Given the description of an element on the screen output the (x, y) to click on. 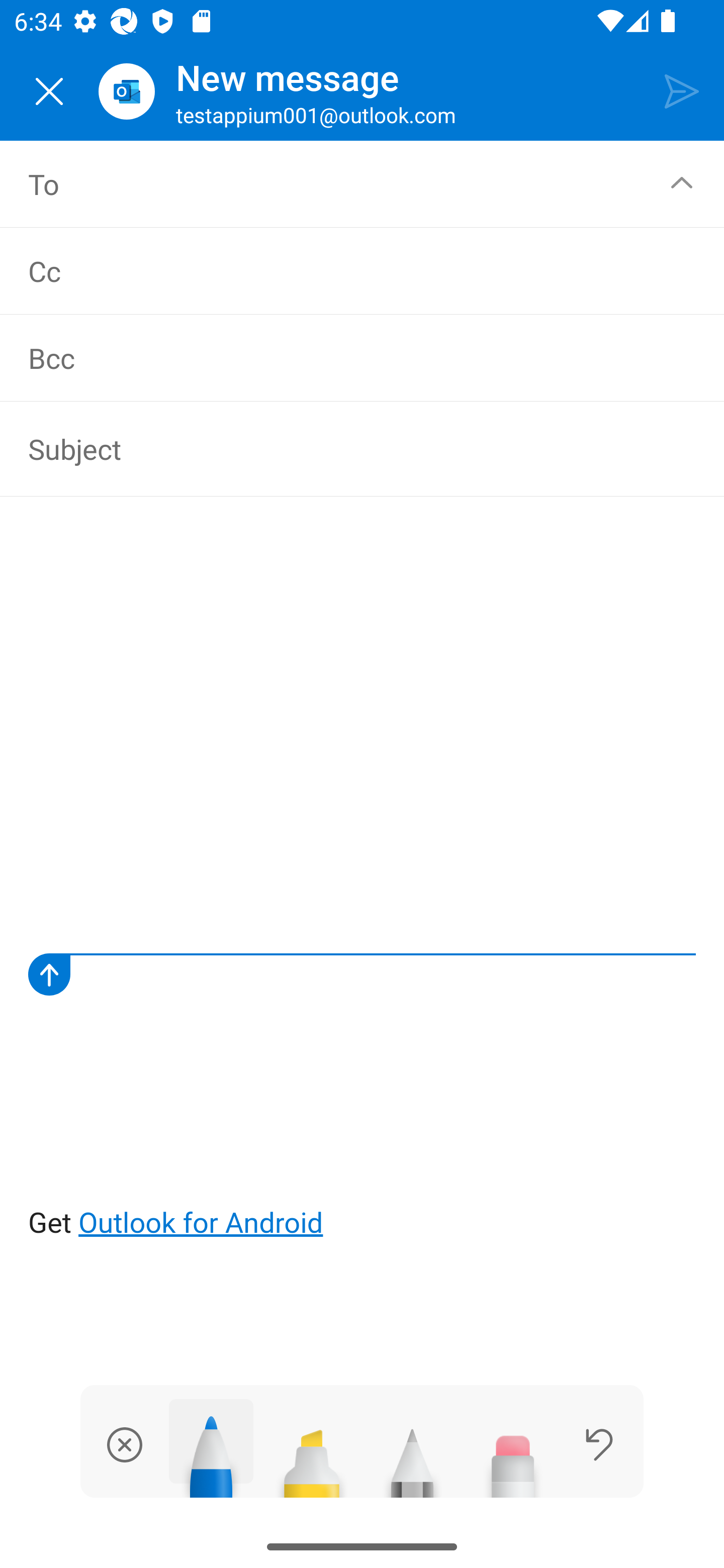
Close (49, 91)
Send (681, 90)
Subject (347, 448)


Get Outlook for Android (363, 881)
Canvas Lower Bound (362, 974)
Pen tool (210, 1447)
dismiss ink and save drawing (124, 1444)
Undo last stroke (598, 1444)
Highlighter tool (311, 1455)
Pencil tool (411, 1455)
Eraser tool (512, 1455)
